Given the description of an element on the screen output the (x, y) to click on. 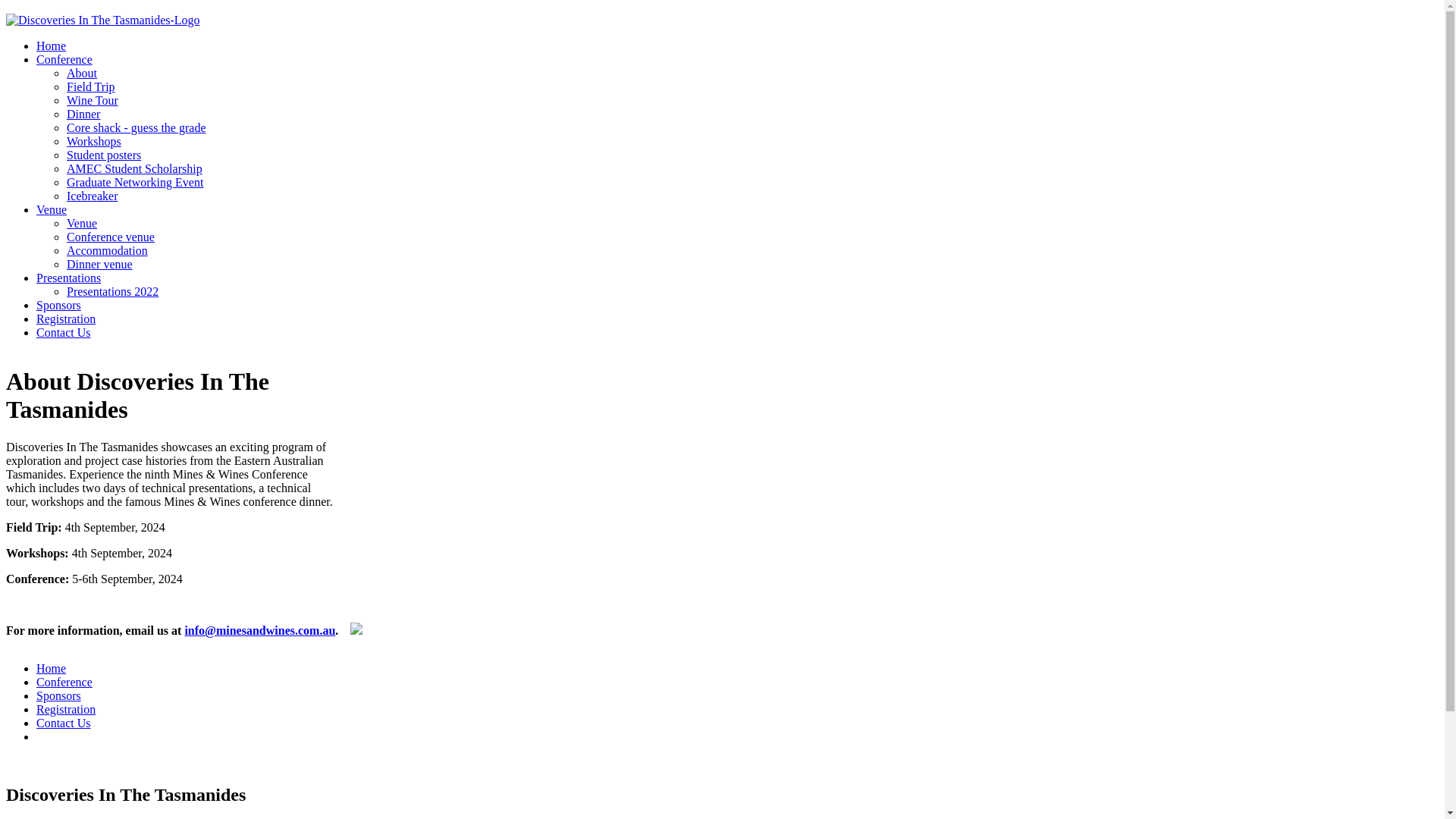
Presentations 2022 Element type: text (112, 291)
Accommodation Element type: text (106, 250)
Contact Us Element type: text (63, 722)
Venue Element type: text (81, 222)
AMEC Student Scholarship Element type: text (134, 168)
Presentations Element type: text (68, 277)
Sponsors Element type: text (58, 304)
Registration Element type: text (65, 318)
Contact Us Element type: text (63, 332)
Conference venue Element type: text (110, 236)
Home Element type: text (50, 668)
info@minesandwines.com.au Element type: text (259, 630)
Conference Element type: text (64, 59)
Registration Element type: text (65, 708)
Sponsors Element type: text (58, 695)
Workshops Element type: text (93, 140)
Venue Element type: text (51, 209)
Student posters Element type: text (103, 154)
About Element type: text (81, 72)
Field Trip Element type: text (90, 86)
Dinner venue Element type: text (99, 263)
Graduate Networking Event Element type: text (134, 181)
Wine Tour Element type: text (92, 100)
Home Element type: text (50, 45)
Dinner Element type: text (83, 113)
Icebreaker Element type: text (92, 195)
Core shack - guess the grade Element type: text (136, 127)
Conference Element type: text (64, 681)
